Given the description of an element on the screen output the (x, y) to click on. 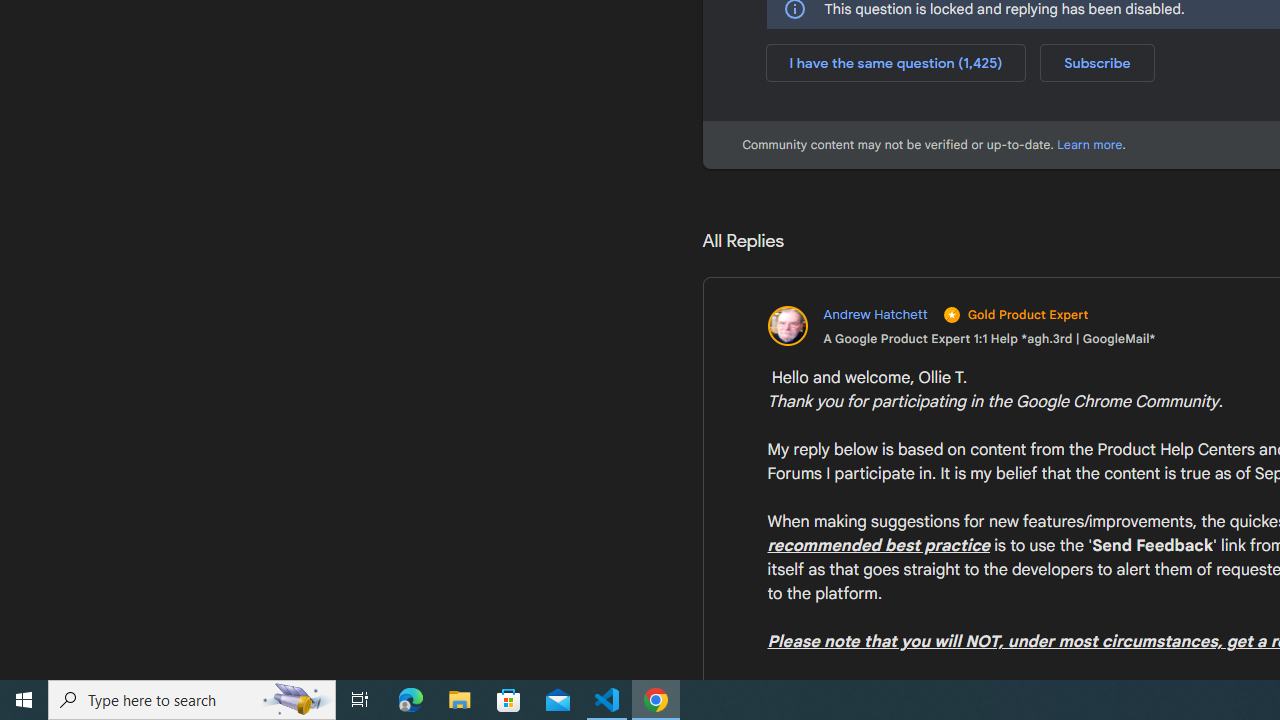
I have the same question (1,425) (895, 62)
View profile for Andrew Hatchett (960, 326)
Community content may not be verified or up-to-date. (1089, 143)
Subscribe (1097, 62)
